Given the description of an element on the screen output the (x, y) to click on. 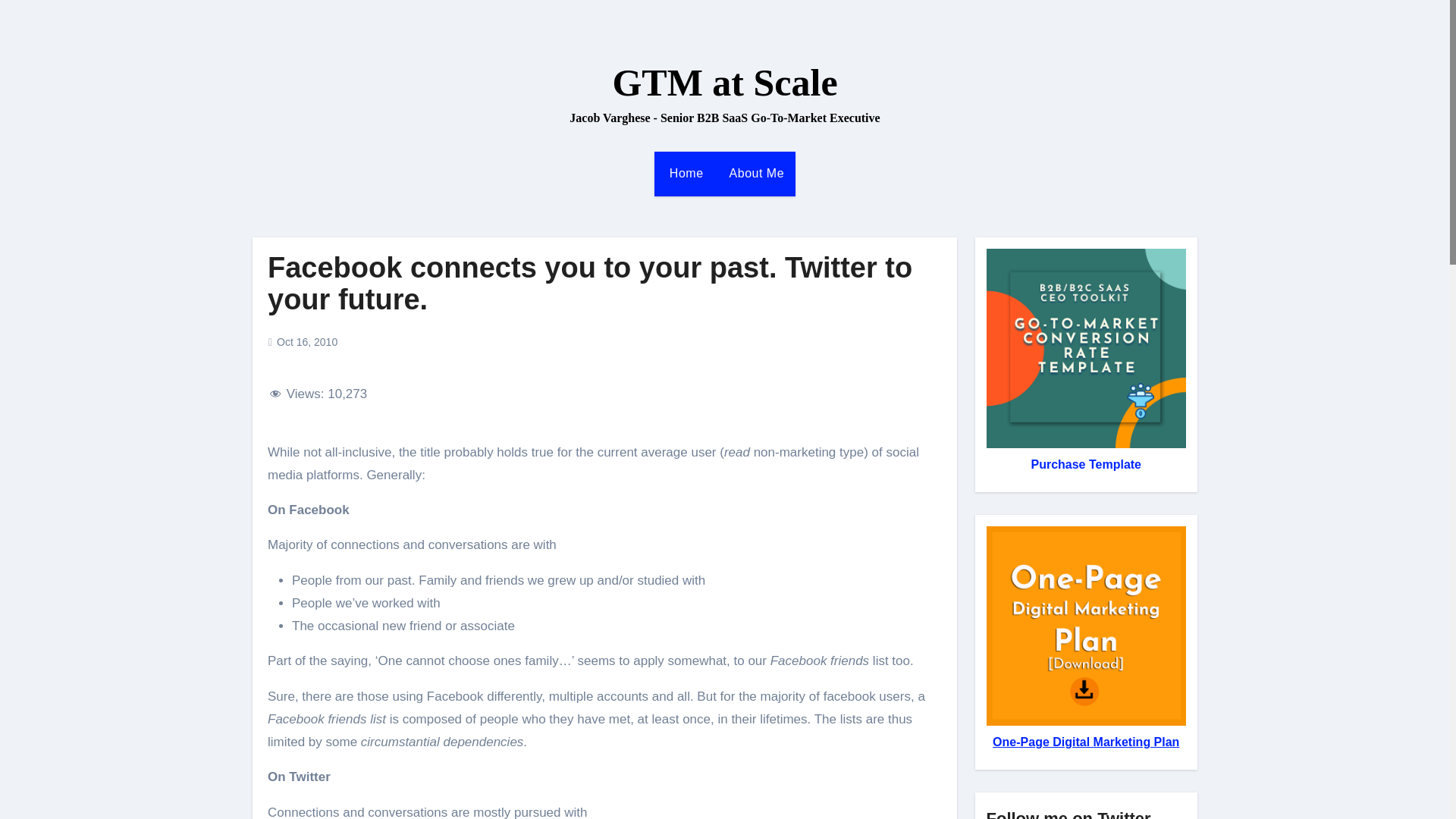
GTM at Scale (724, 82)
Facebook connects you to your past. Twitter to your future. (589, 283)
One-Page Digital Marketing Plan (1085, 741)
 About Me (755, 173)
B2B SaaS Marketing Executive  (755, 173)
Purchase Template (1085, 463)
 Home (683, 173)
